Given the description of an element on the screen output the (x, y) to click on. 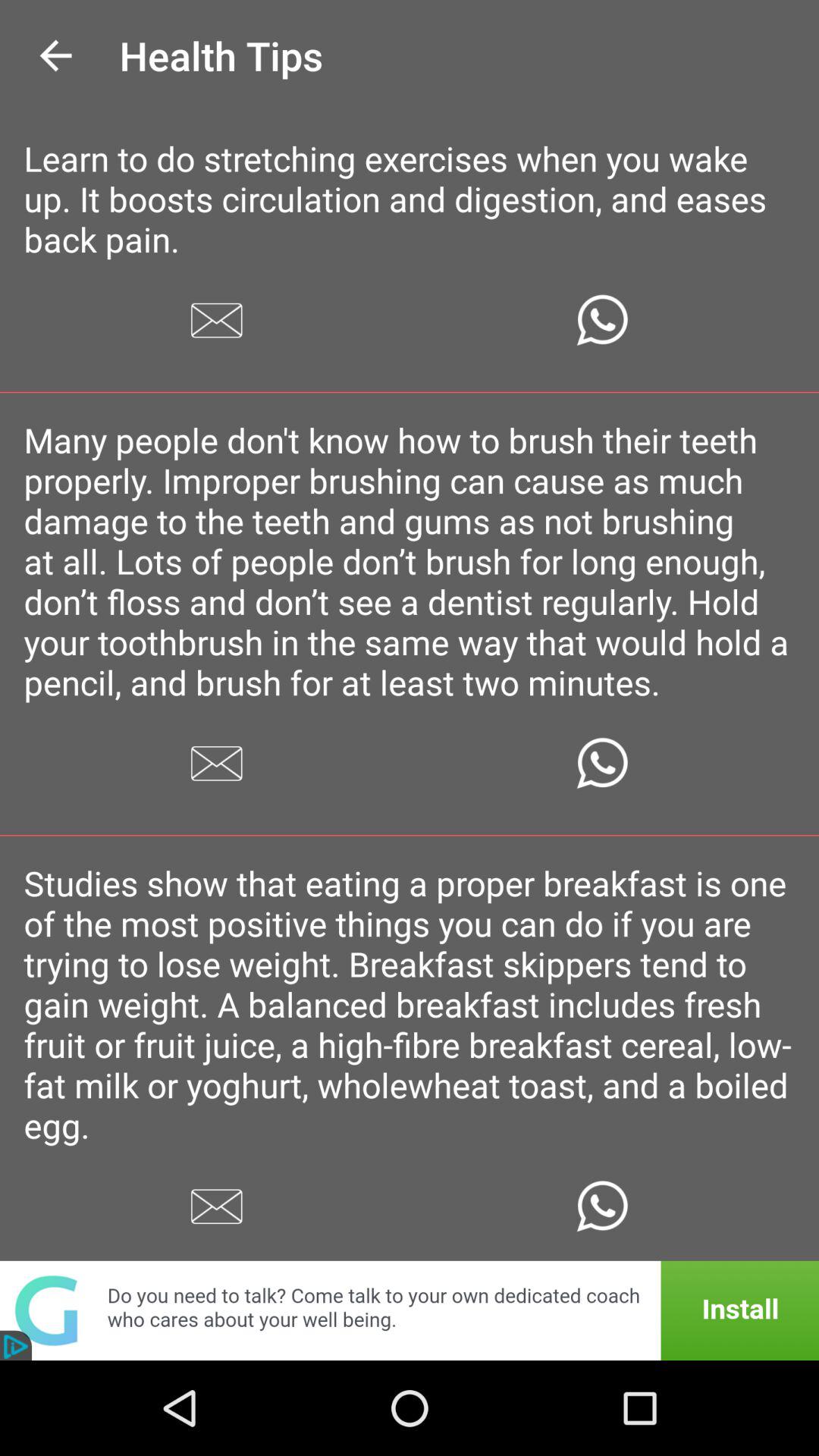
tap the icon next to the health tips icon (55, 55)
